Given the description of an element on the screen output the (x, y) to click on. 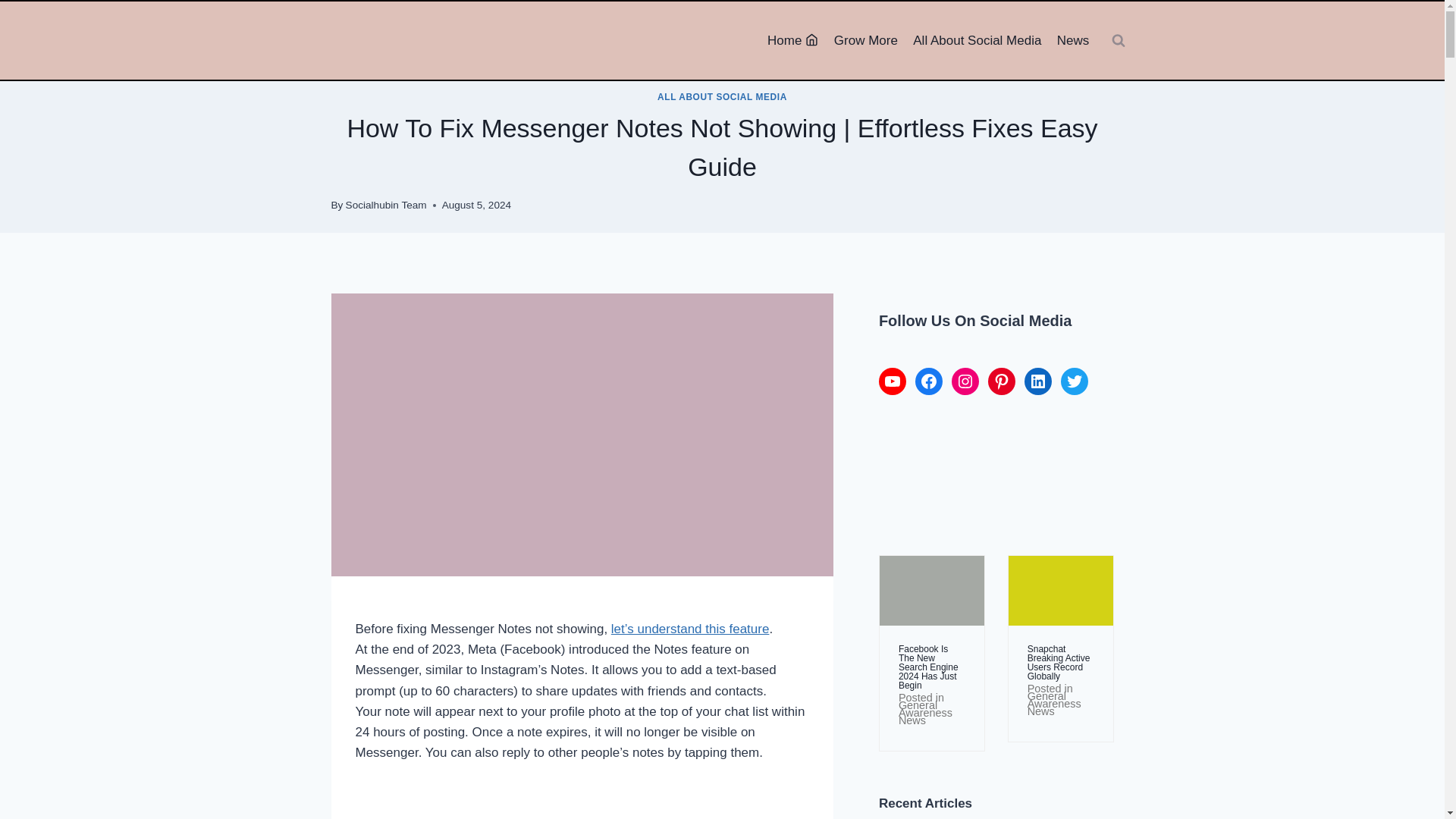
Socialhubin Team (386, 204)
ALL ABOUT SOCIAL MEDIA (722, 96)
Home (793, 40)
All About Social Media (977, 40)
News (1073, 40)
Grow More (866, 40)
